Given the description of an element on the screen output the (x, y) to click on. 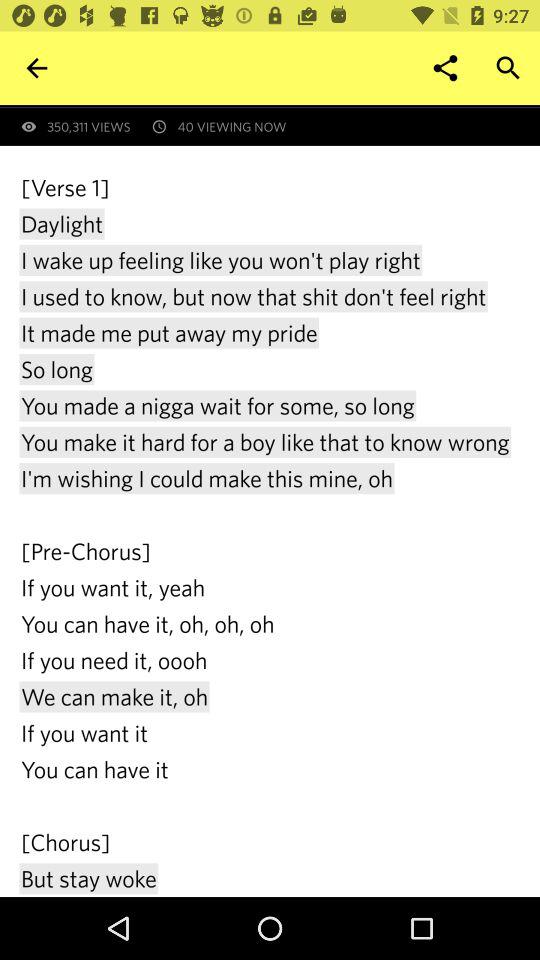
flip to the verse 1 daylight icon (270, 534)
